Given the description of an element on the screen output the (x, y) to click on. 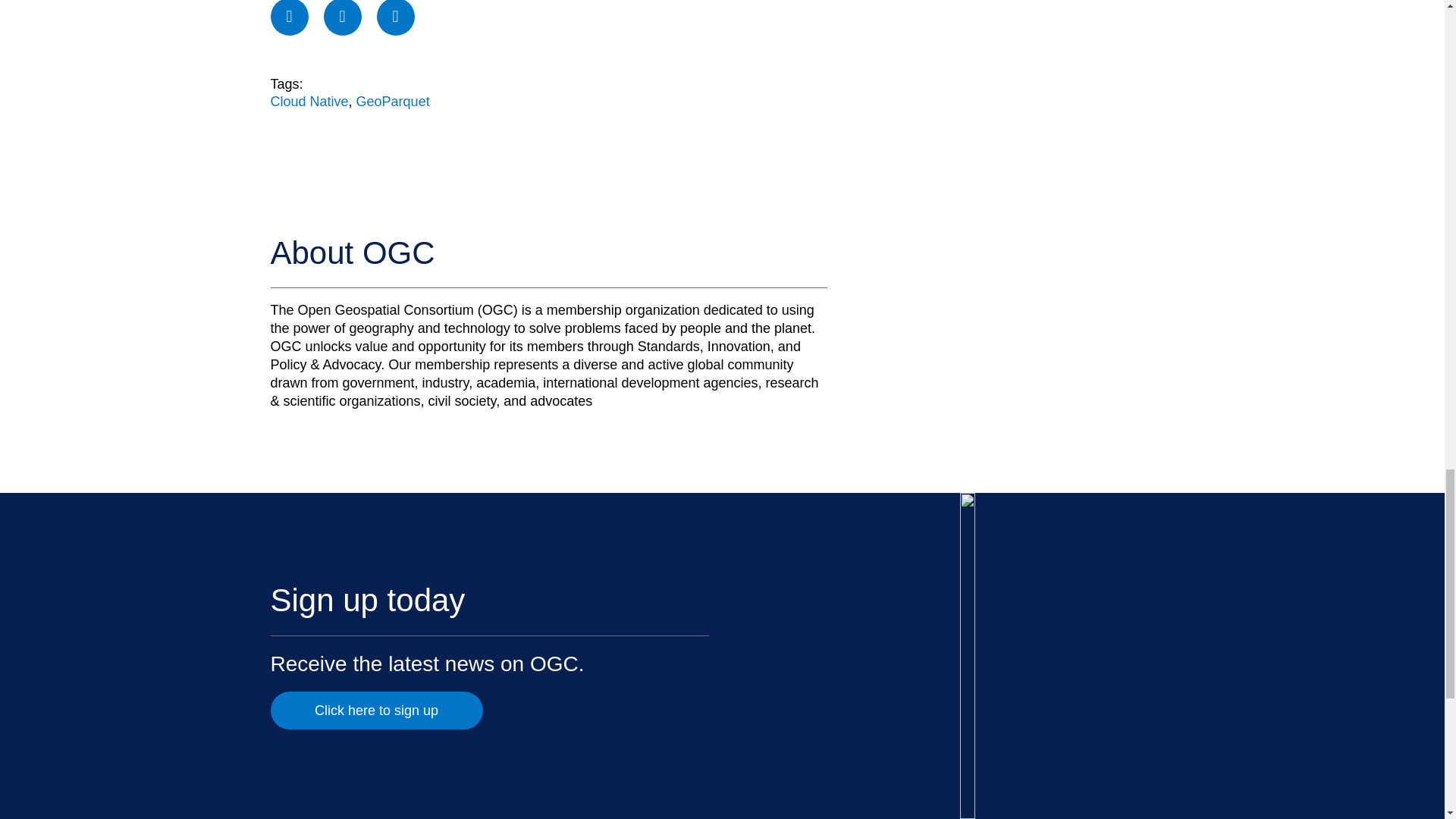
Twitter (342, 18)
Facebook (288, 18)
LinkedIn (395, 18)
